Given the description of an element on the screen output the (x, y) to click on. 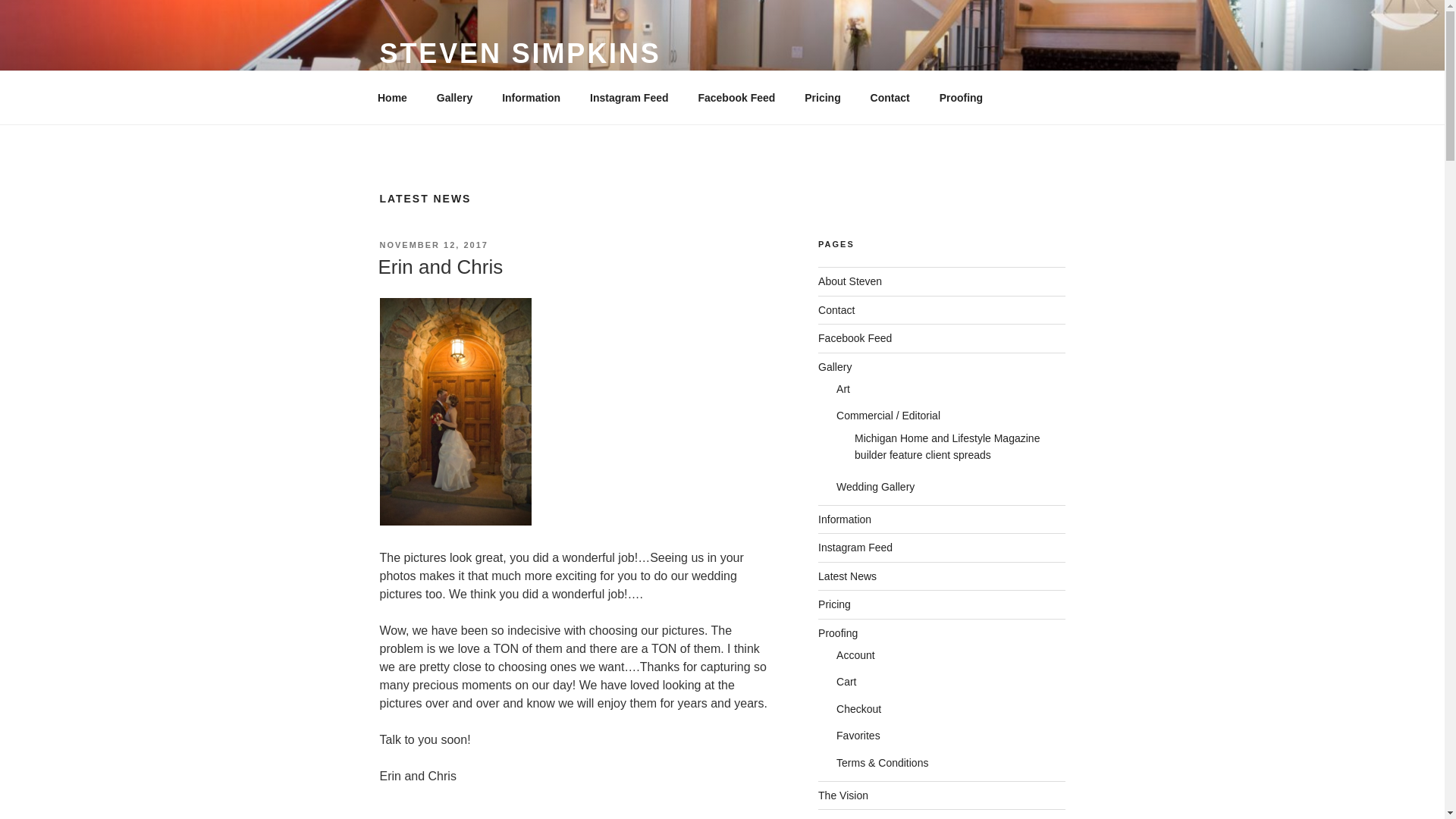
Instagram Feed (855, 547)
Information (844, 519)
Facebook Feed (736, 97)
Gallery (453, 97)
Wedding Gallery (874, 486)
Contact (890, 97)
Proofing (960, 97)
Instagram Feed (628, 97)
STEVEN SIMPKINS (519, 52)
Contact (836, 309)
